Given the description of an element on the screen output the (x, y) to click on. 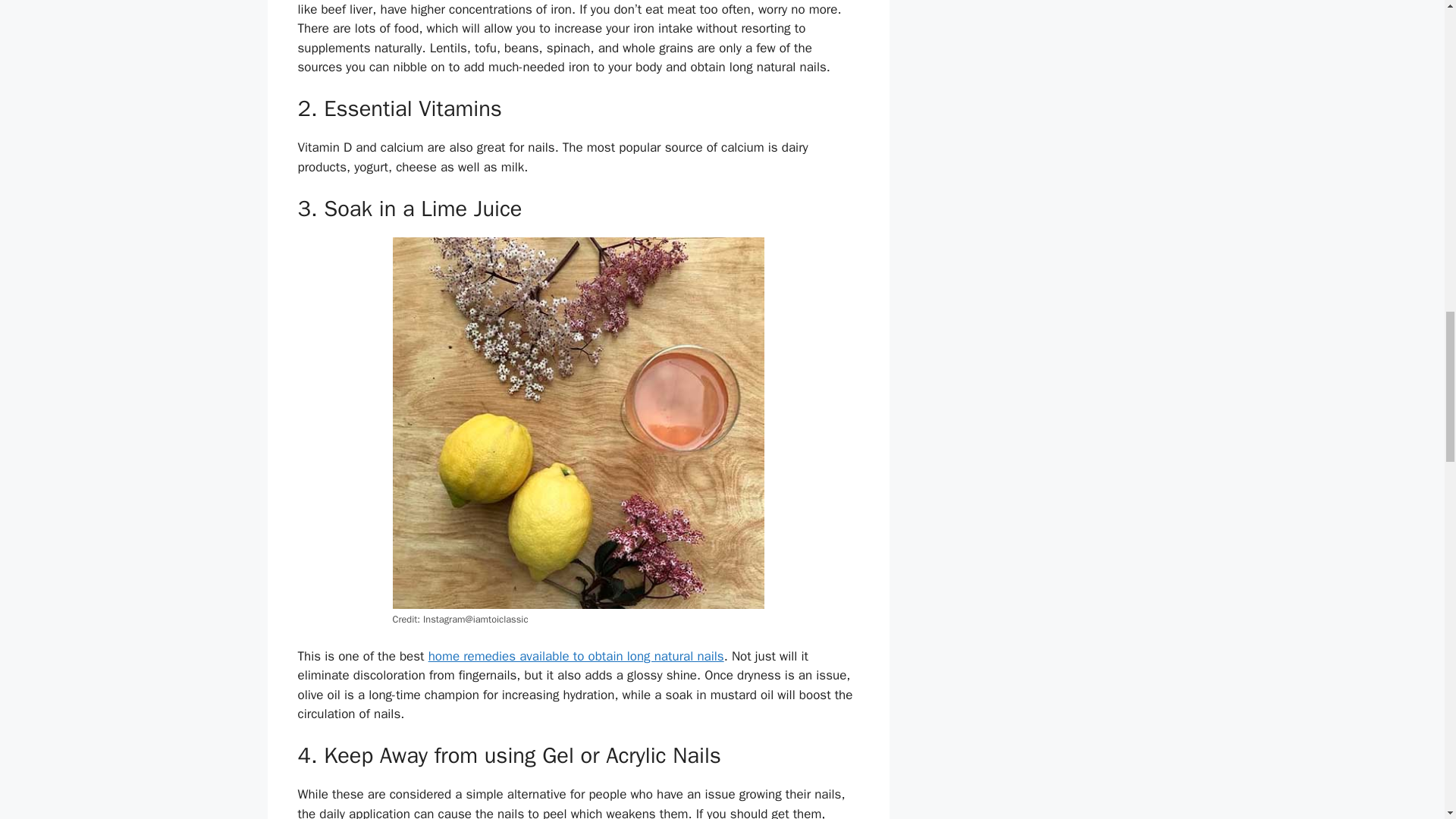
home remedies available to obtain long natural nails (575, 656)
